Given the description of an element on the screen output the (x, y) to click on. 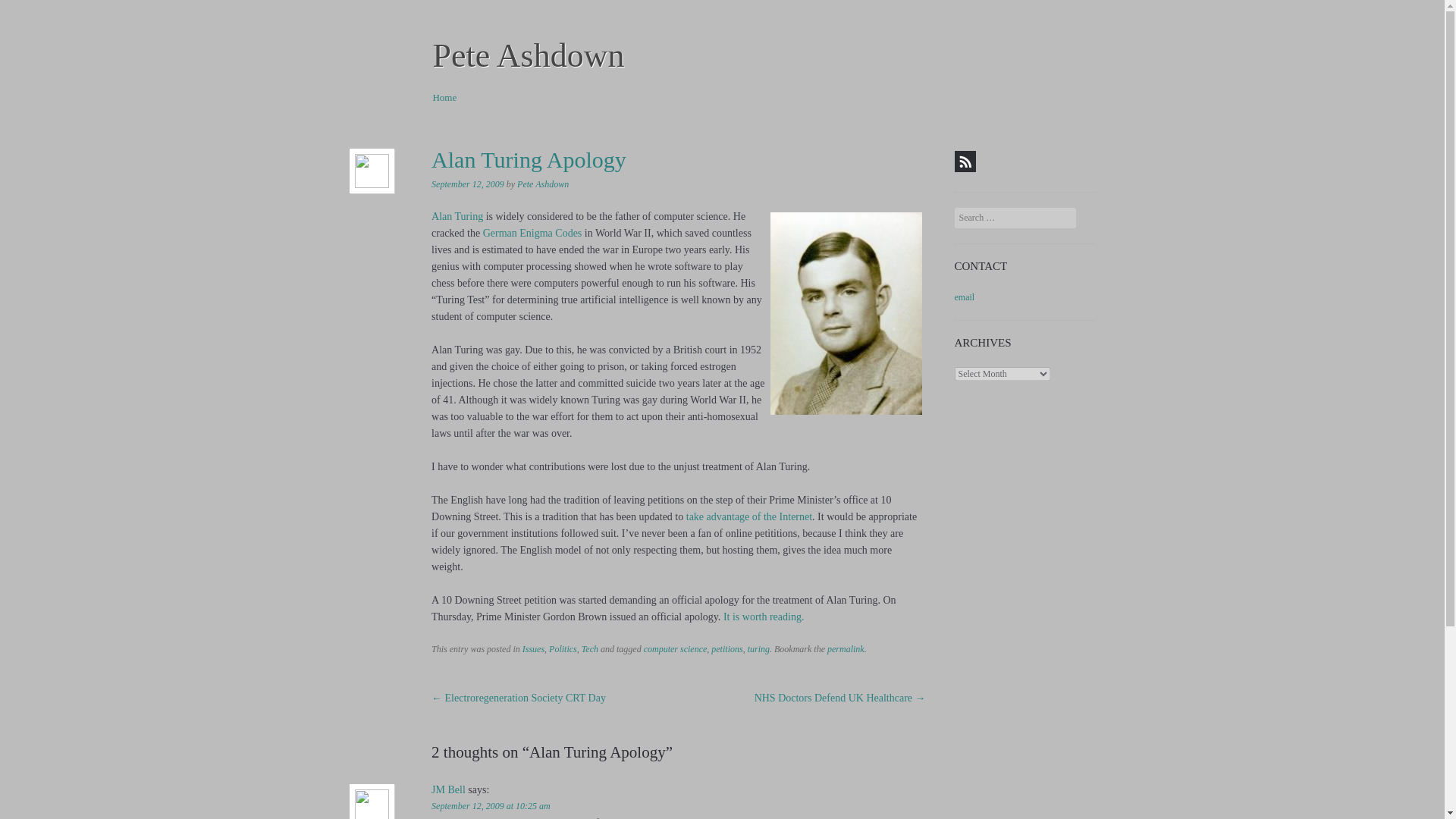
September 12, 2009 at 10:25 am (490, 805)
Pete Ashdown (542, 184)
Pete Ashdown (528, 55)
permalink (845, 648)
JM Bell (447, 789)
computer science (675, 648)
Pete Ashdown (528, 55)
email (965, 296)
Issues (533, 648)
September 12, 2009 (466, 184)
View all posts by Pete Ashdown (542, 184)
German Enigma Codes (532, 233)
Alan Turing (456, 215)
It is worth reading. (764, 616)
RSS (965, 160)
